Given the description of an element on the screen output the (x, y) to click on. 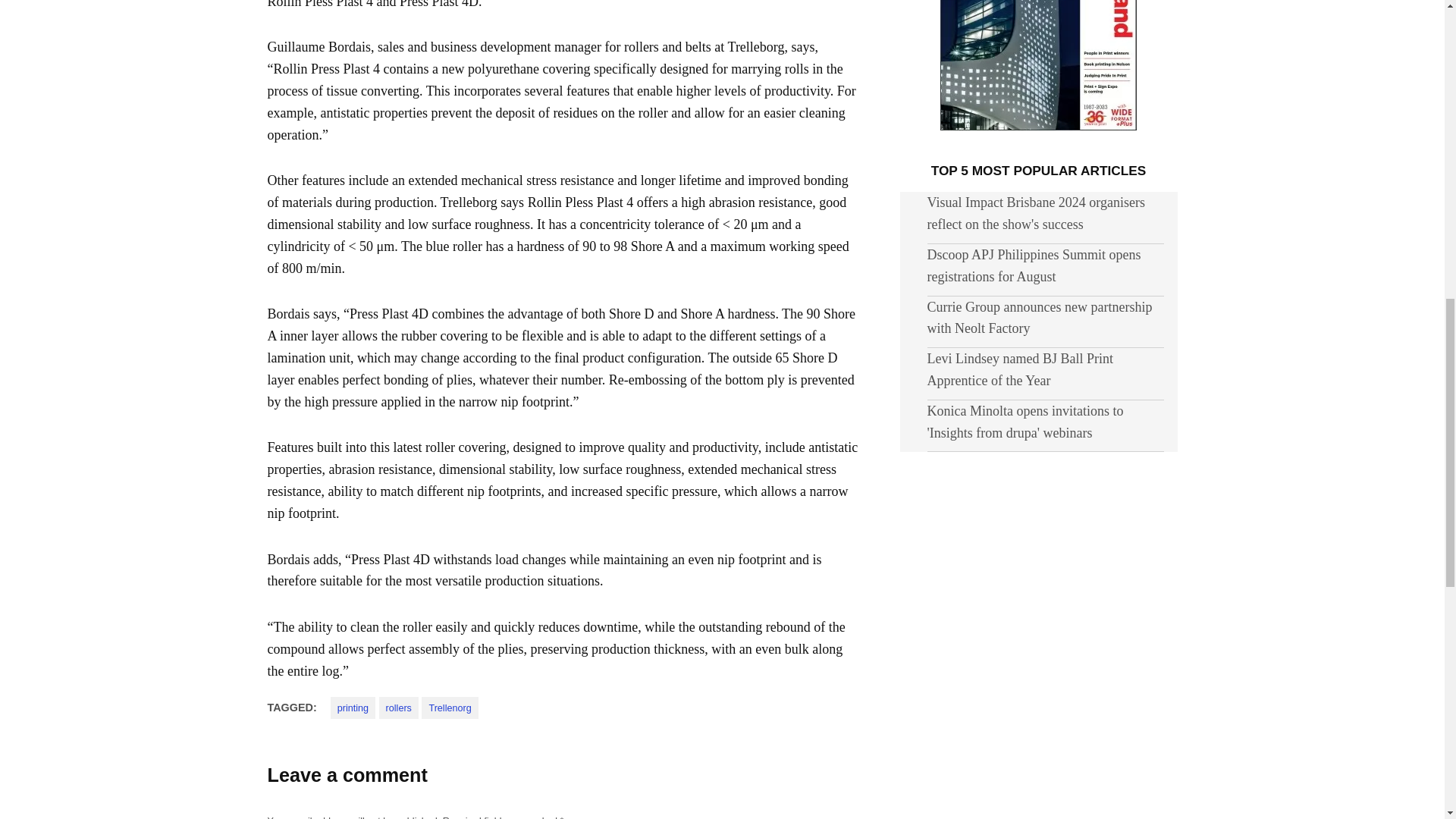
Trellenorg (449, 707)
rollers (398, 707)
printing (352, 707)
Dscoop APJ Philippines Summit opens registrations for August (1033, 265)
